Given the description of an element on the screen output the (x, y) to click on. 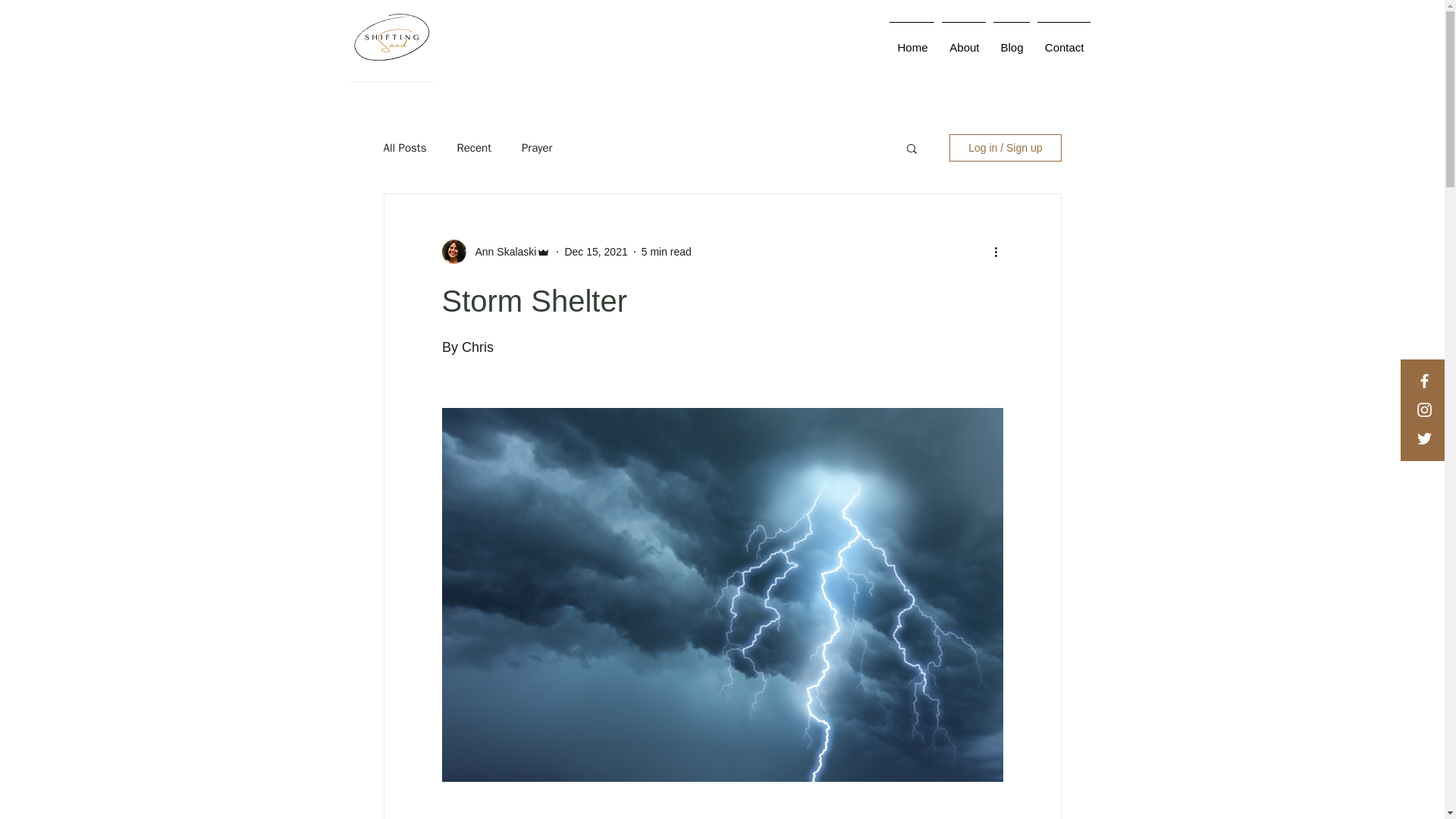
Dec 15, 2021 (595, 251)
Contact (1062, 40)
Blog (1010, 40)
Ann Skalaski (500, 252)
Recent (474, 147)
All Posts (405, 147)
Prayer (536, 147)
About (962, 40)
5 min read (666, 251)
Home (911, 40)
